Given the description of an element on the screen output the (x, y) to click on. 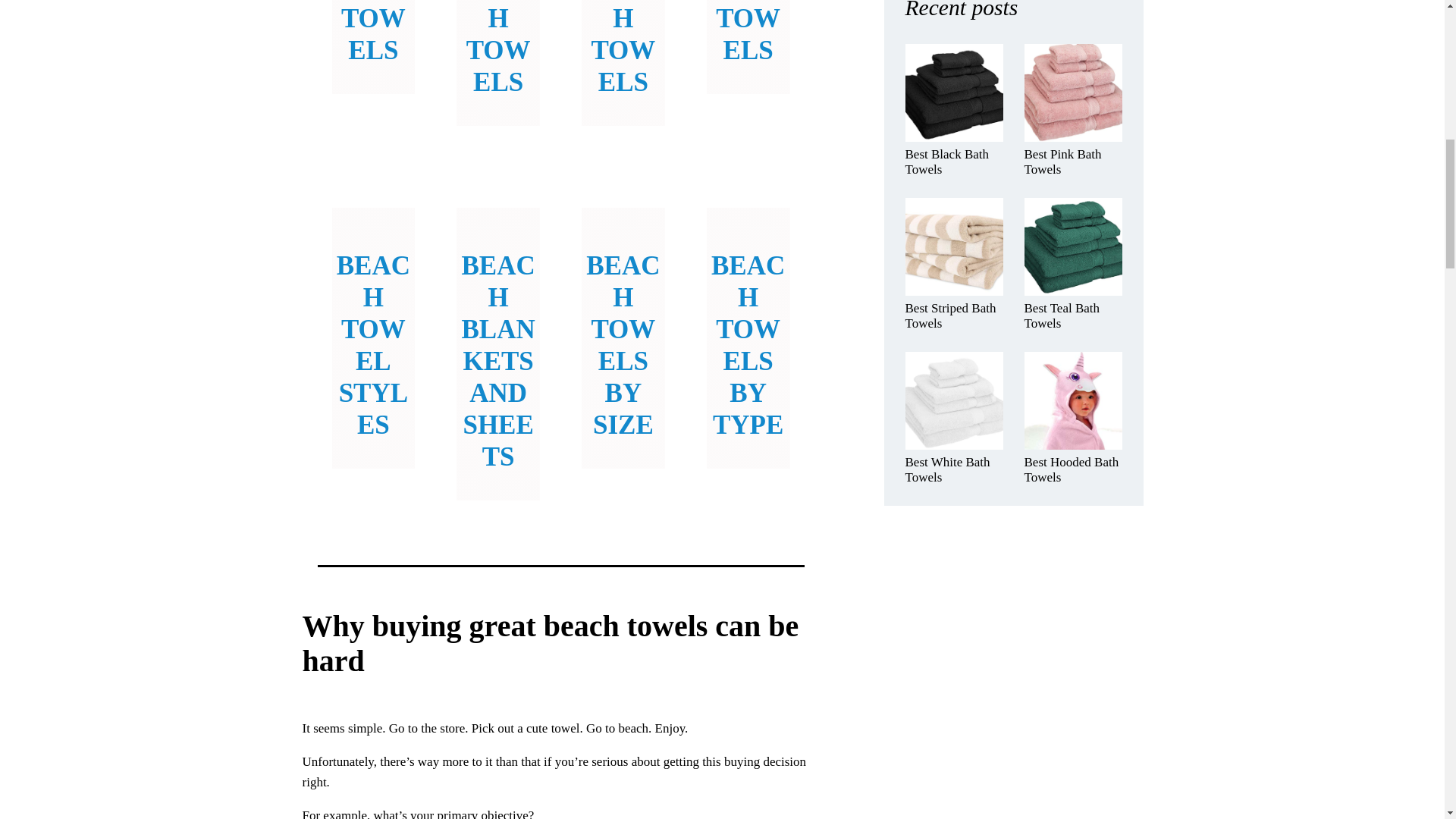
Best White Bath Towels (954, 469)
Best Black Bath Towels (954, 161)
Best Pink Bath Towels (1072, 161)
Best Hooded Bath Towels (1072, 469)
Best Striped Bath Towels (954, 315)
Best Teal Bath Towels (1072, 315)
